Given the description of an element on the screen output the (x, y) to click on. 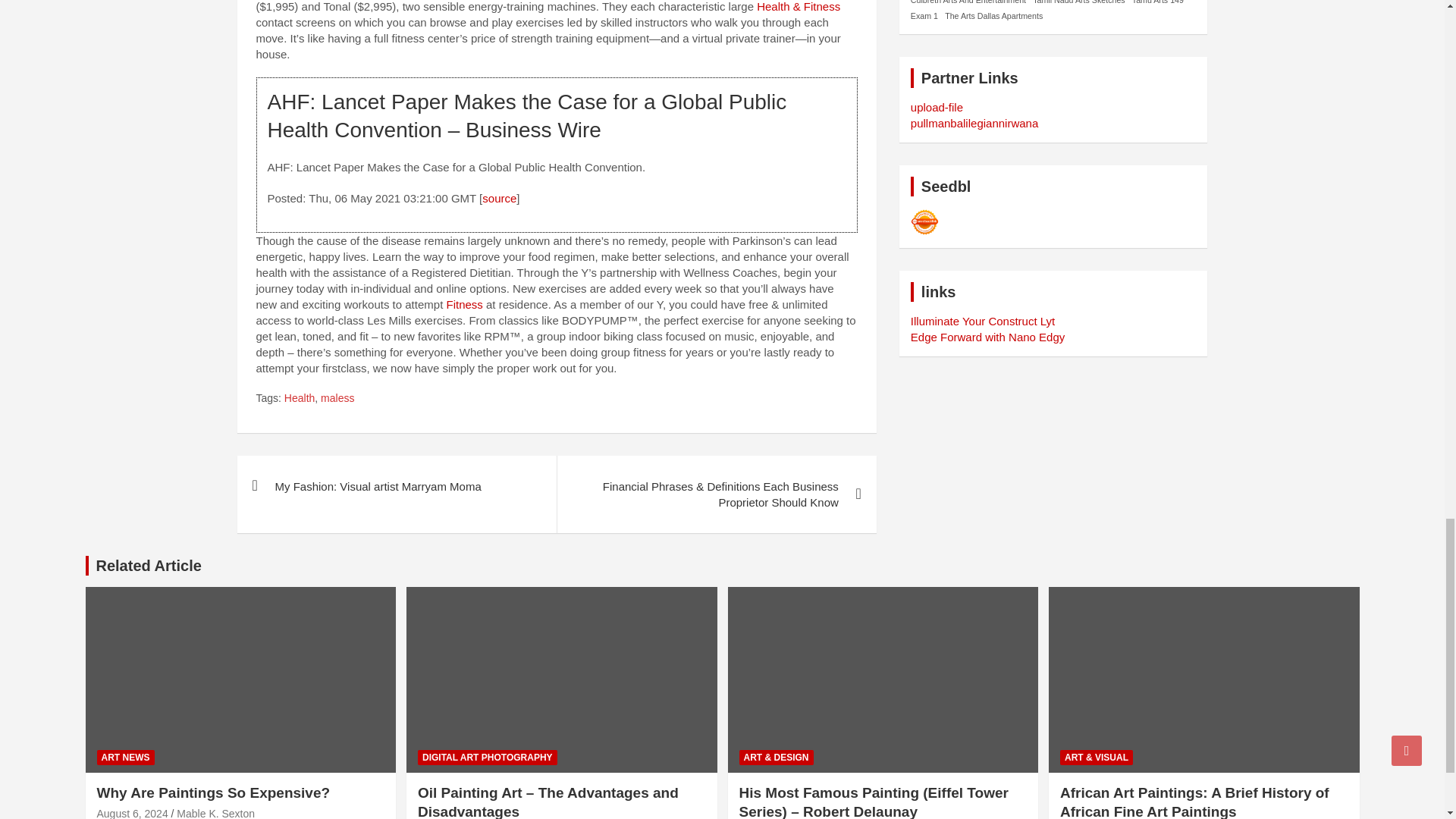
My Fashion: Visual artist Marryam Moma (395, 485)
maless (336, 398)
source (498, 197)
Seedbacklink (925, 222)
Health (298, 398)
Fitness (463, 304)
Why Are Paintings So Expensive? (132, 813)
